Given the description of an element on the screen output the (x, y) to click on. 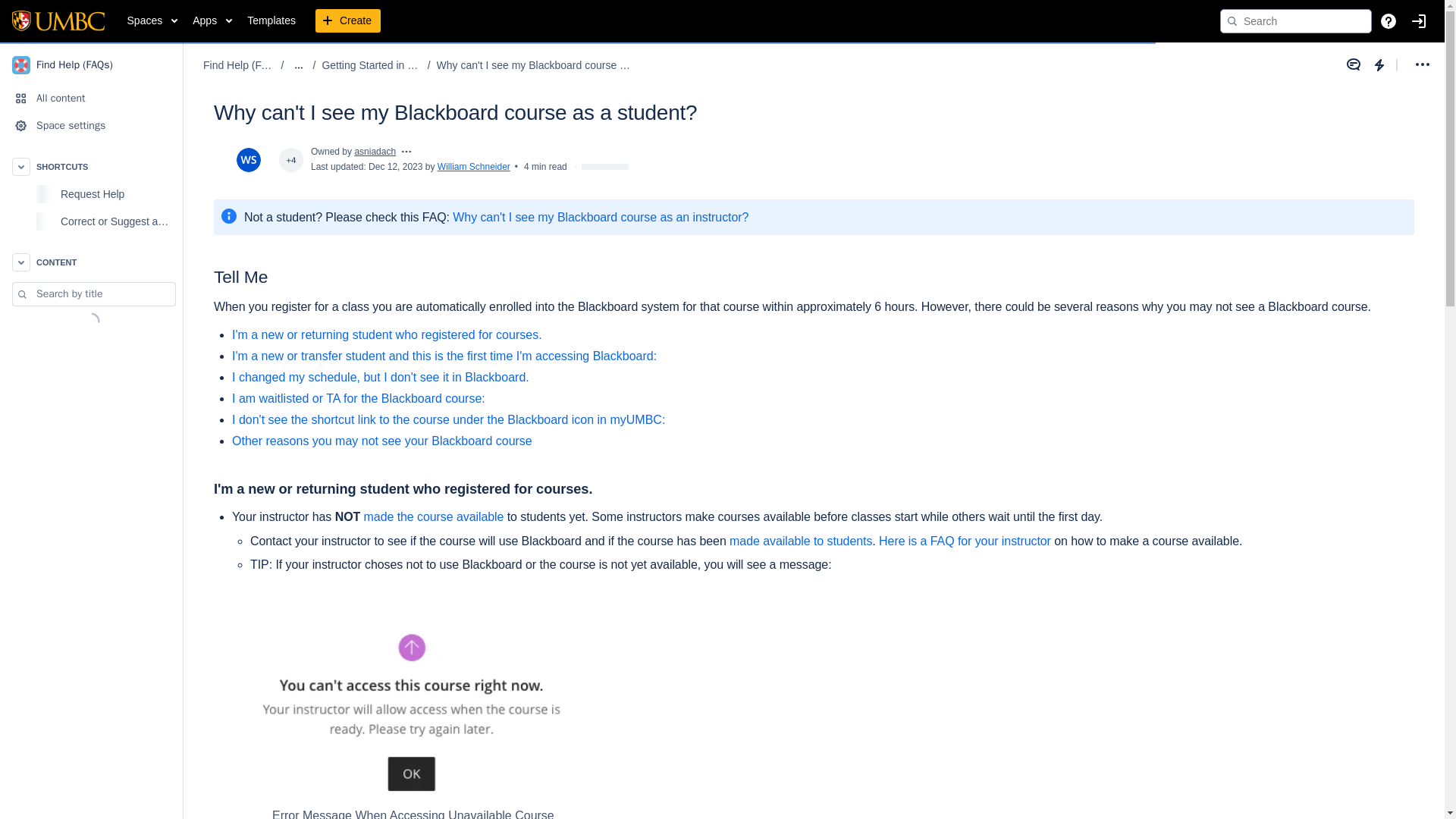
I'm a new or returning student who registered for courses. (386, 334)
I changed my schedule, but I don't see it in Blackboard. (380, 377)
Space settings (90, 125)
Request Help (90, 194)
All content (90, 98)
Correct or Suggest an Article (90, 221)
made the course available (433, 516)
Correct or Suggest an Article (117, 221)
Request Help (117, 193)
